Given the description of an element on the screen output the (x, y) to click on. 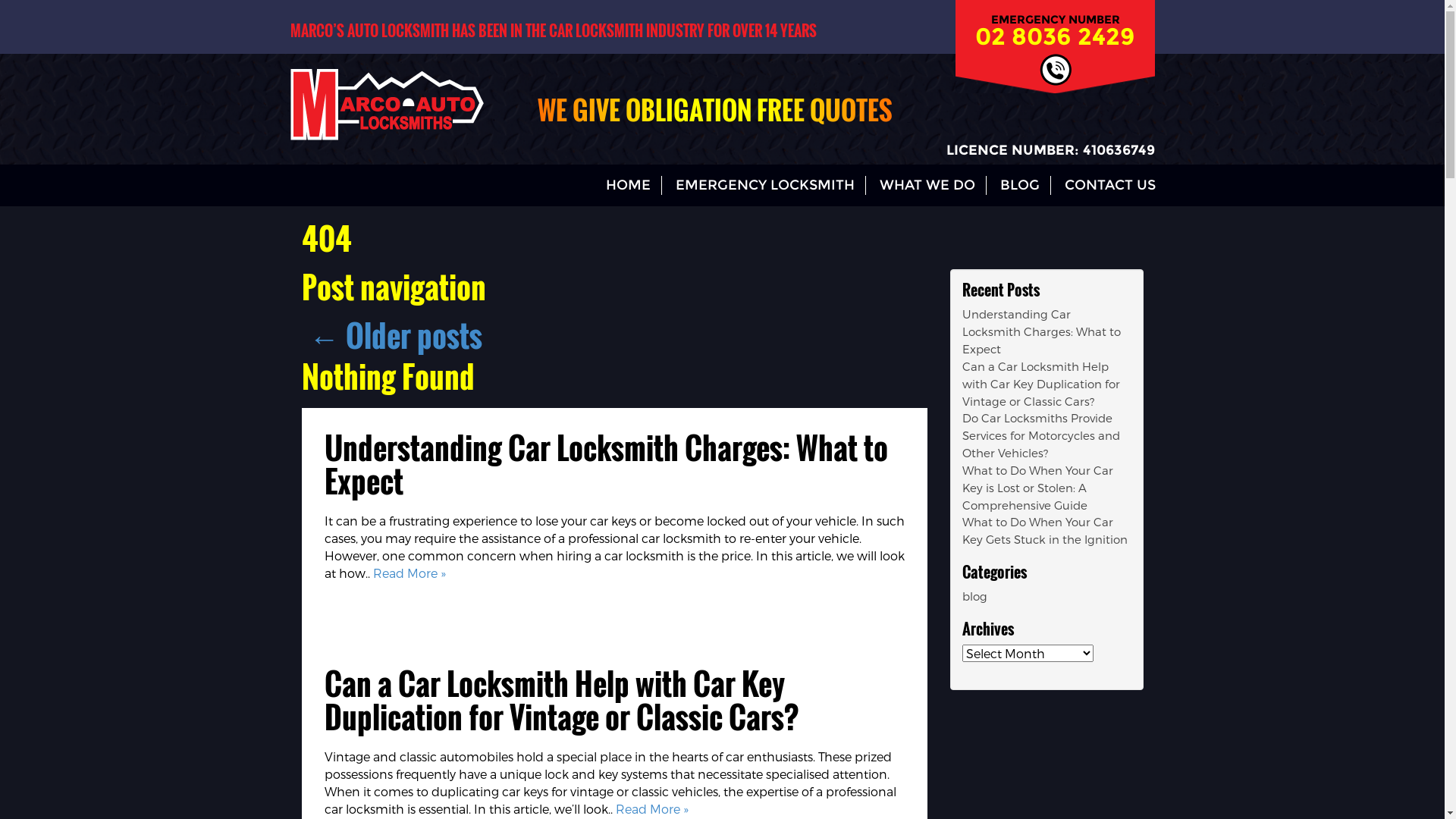
What to Do When Your Car Key Gets Stuck in the Ignition Element type: text (1043, 530)
CONTACT US Element type: text (1110, 185)
EMERGENCY LOCKSMITH Element type: text (764, 185)
Understanding Car Locksmith Charges: What to Expect Element type: text (606, 463)
BLOG Element type: text (1018, 185)
Understanding Car Locksmith Charges: What to Expect Element type: text (1040, 331)
blog Element type: text (973, 595)
HOME Element type: text (627, 185)
WHAT WE DO Element type: text (927, 185)
02 8036 2429 Element type: text (1055, 35)
